Given the description of an element on the screen output the (x, y) to click on. 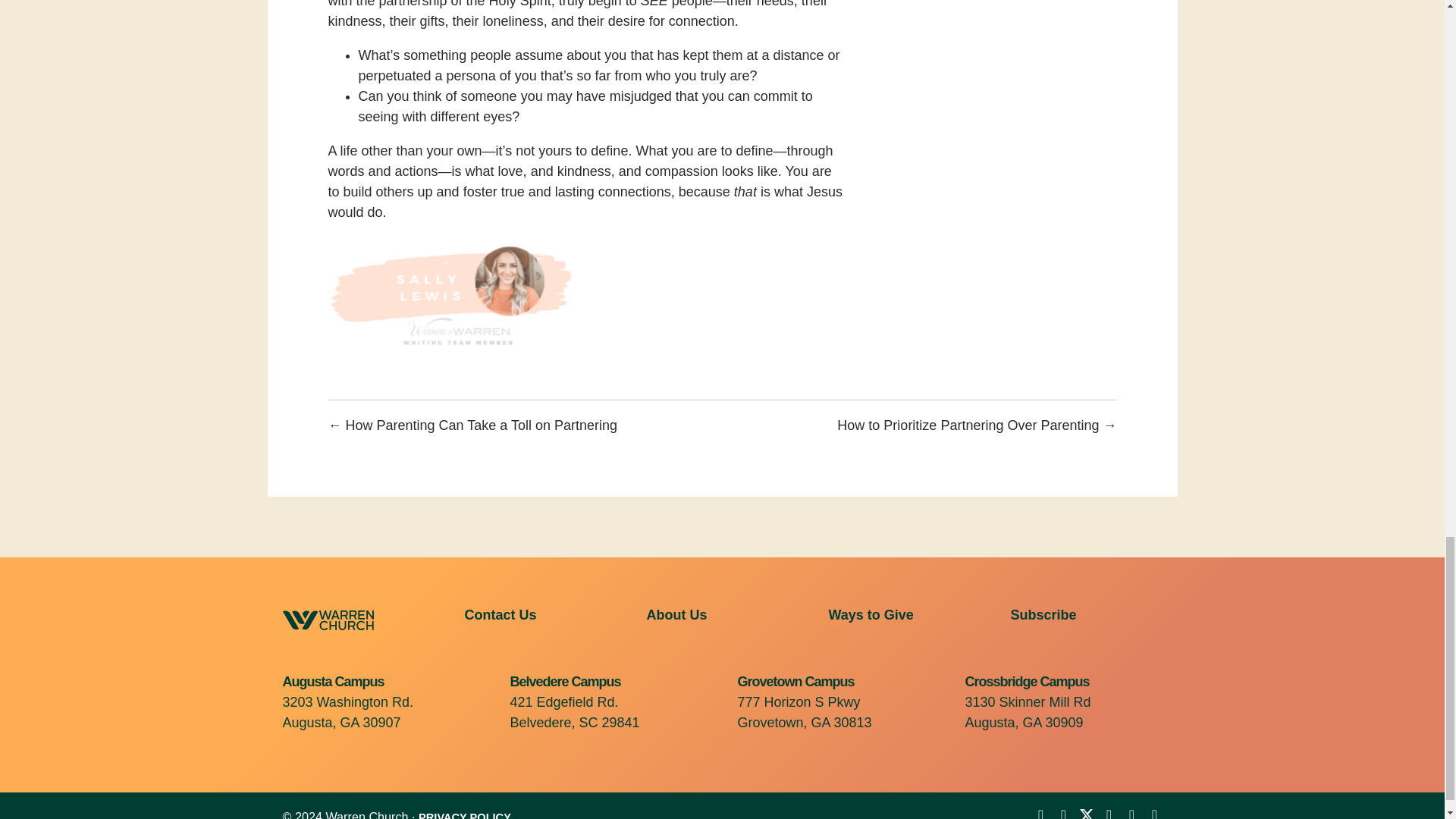
Warren-Church-Logo (327, 619)
Email (1154, 812)
RSS (1131, 812)
Instagram (1108, 812)
WarrenBaptist.org Privacy Policy (465, 815)
YouTube (1062, 812)
Facebook (1040, 812)
